Given the description of an element on the screen output the (x, y) to click on. 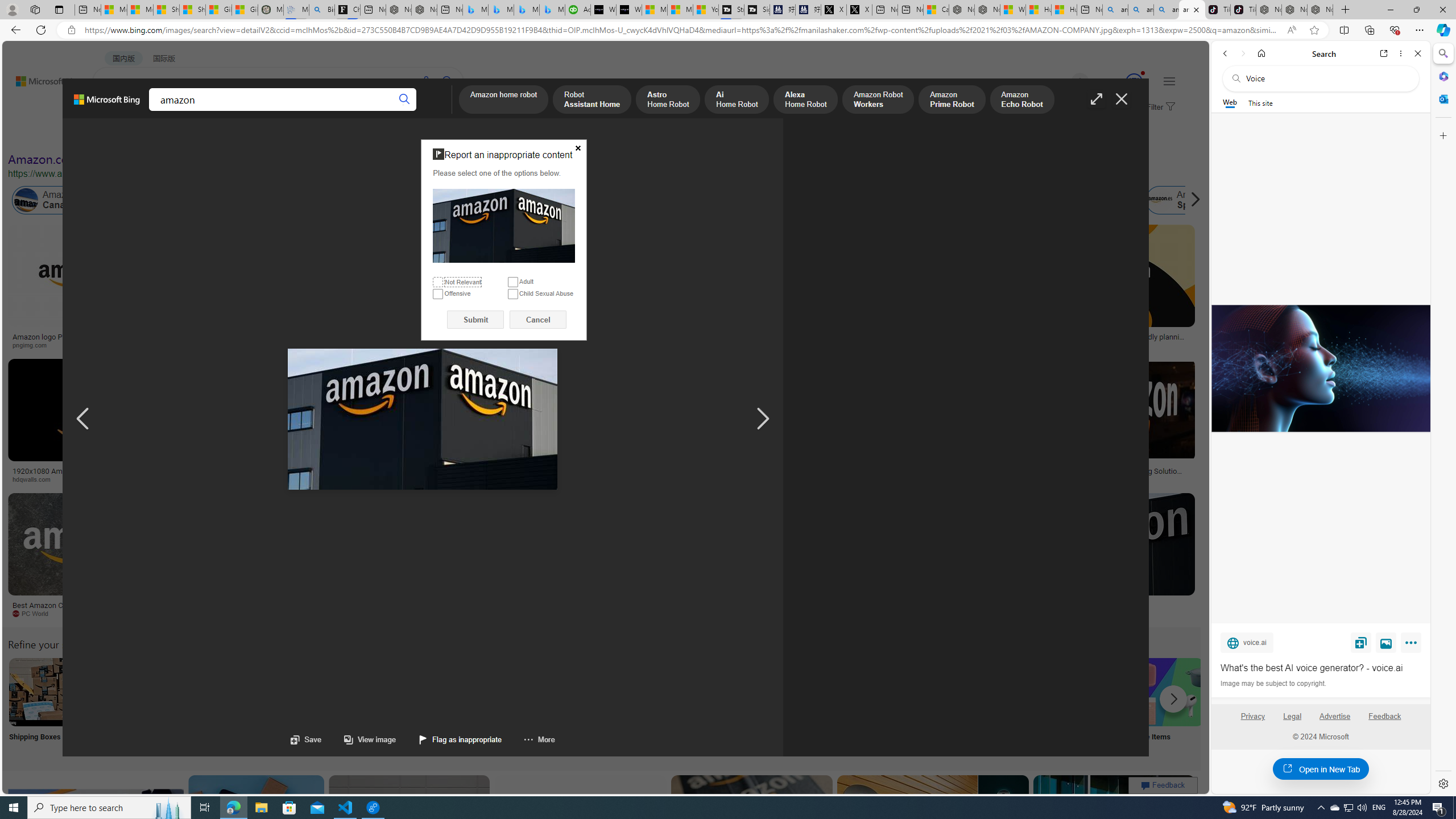
Amazon Jobs Near Me Jobs Near Me (342, 706)
View image (358, 739)
Amazon Log into My Account Log into My Account (268, 706)
Save (306, 739)
Mini TV (794, 706)
Date (336, 135)
mobilemarketingmagazine.com (1099, 479)
Legal (1291, 715)
Amazon Clip Art (192, 691)
Image size (127, 135)
